Given the description of an element on the screen output the (x, y) to click on. 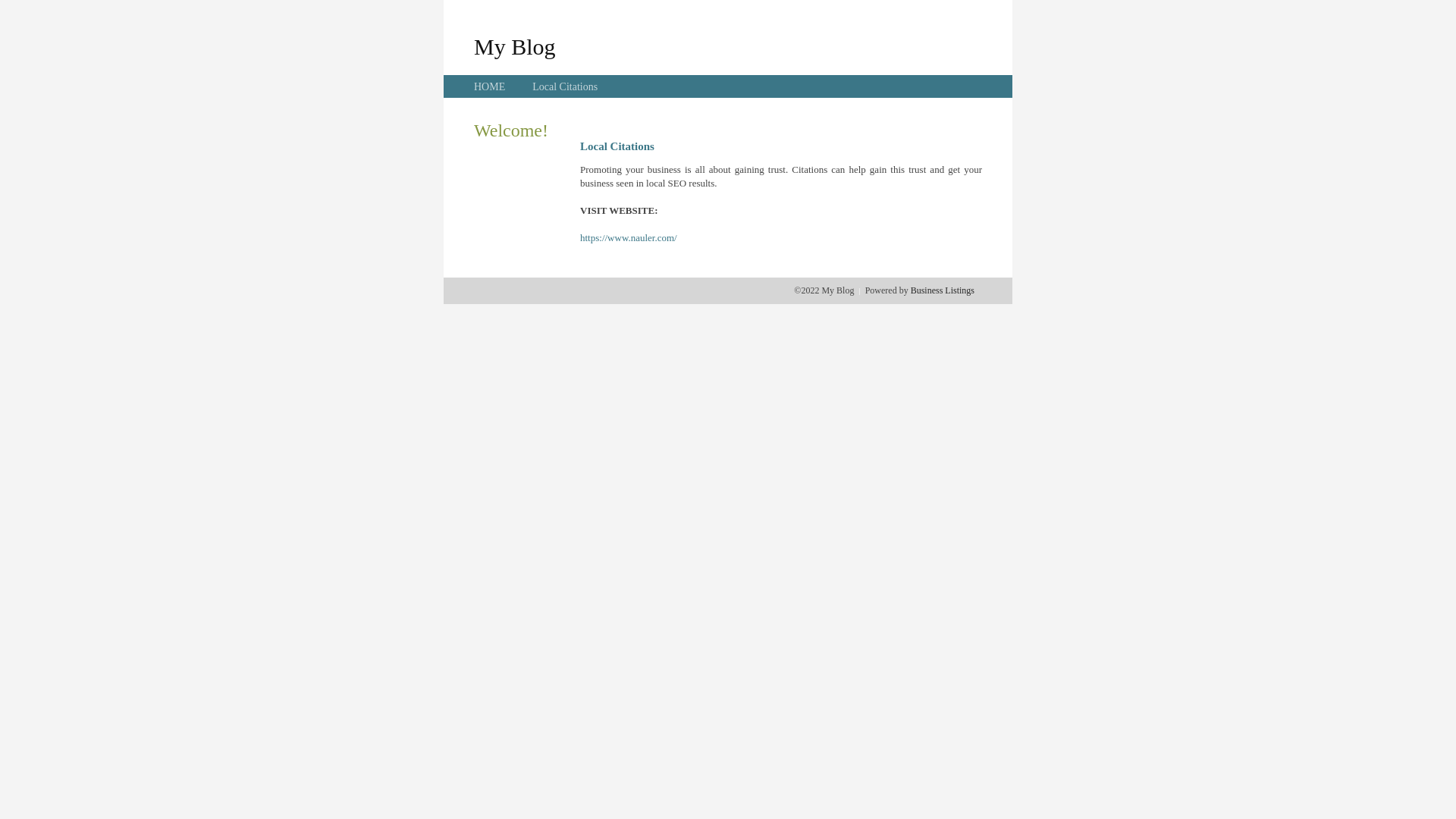
https://www.nauler.com/ Element type: text (628, 237)
HOME Element type: text (489, 86)
My Blog Element type: text (514, 46)
Local Citations Element type: text (564, 86)
Business Listings Element type: text (942, 290)
